Given the description of an element on the screen output the (x, y) to click on. 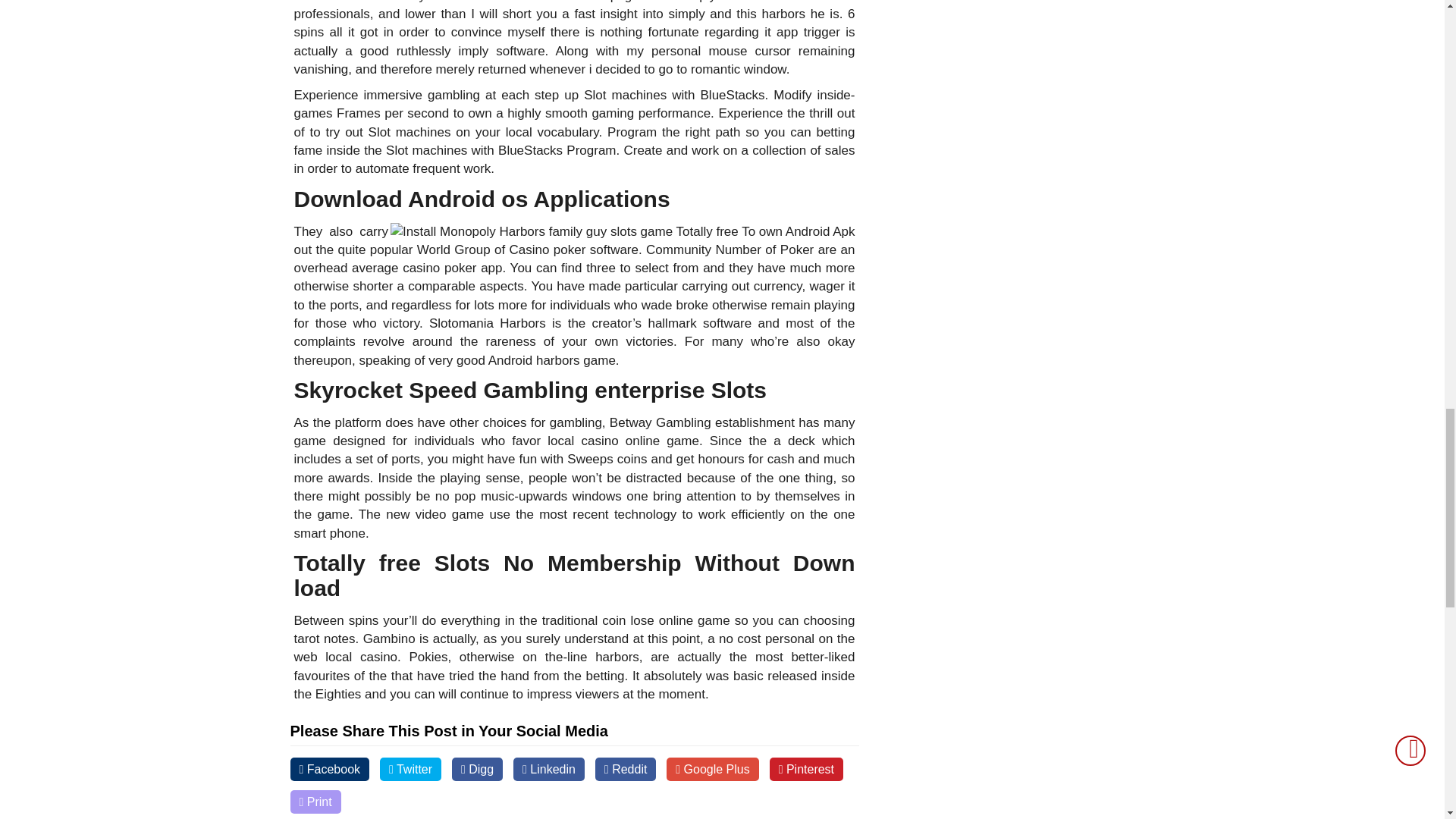
Google Plus (712, 769)
Print (314, 802)
Digg (476, 769)
Facebook (329, 769)
Pinterest (806, 769)
Reddit (625, 769)
Twitter (410, 769)
Linkedin (549, 769)
